Given the description of an element on the screen output the (x, y) to click on. 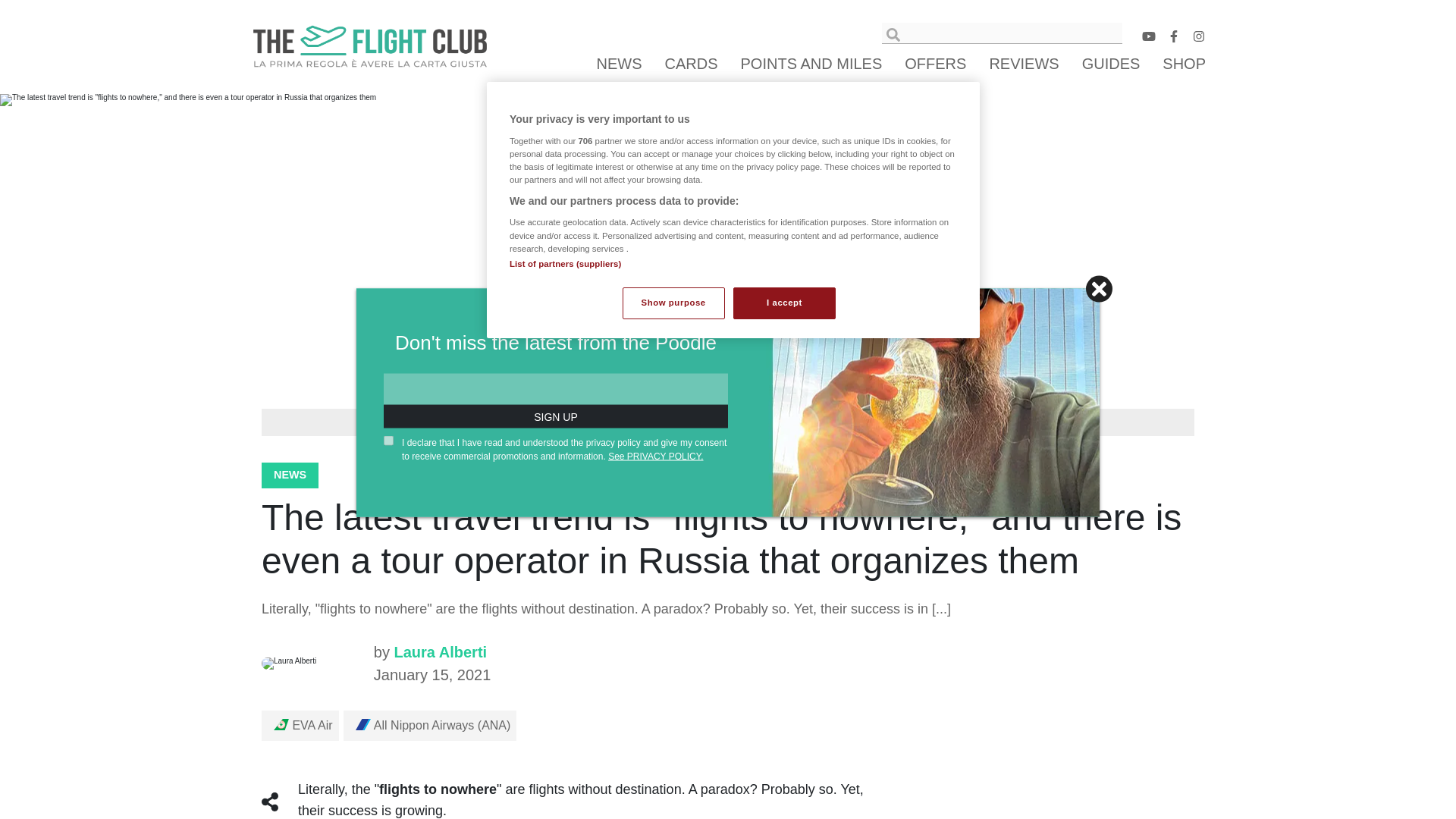
GUIDES (1111, 63)
POINTS AND MILES (811, 63)
REVIEWS (1023, 63)
NEWS (619, 63)
CARDS (691, 63)
EVA Air (303, 725)
OFFERS (935, 63)
theflightclub.it on Facebook (1173, 40)
Laura Alberti (439, 651)
theflightclub.it on YouTube (1148, 40)
Laura Alberti (313, 663)
Learn more (962, 421)
InBici on Instagram (1198, 40)
SHOP (1181, 63)
1 (388, 439)
